Given the description of an element on the screen output the (x, y) to click on. 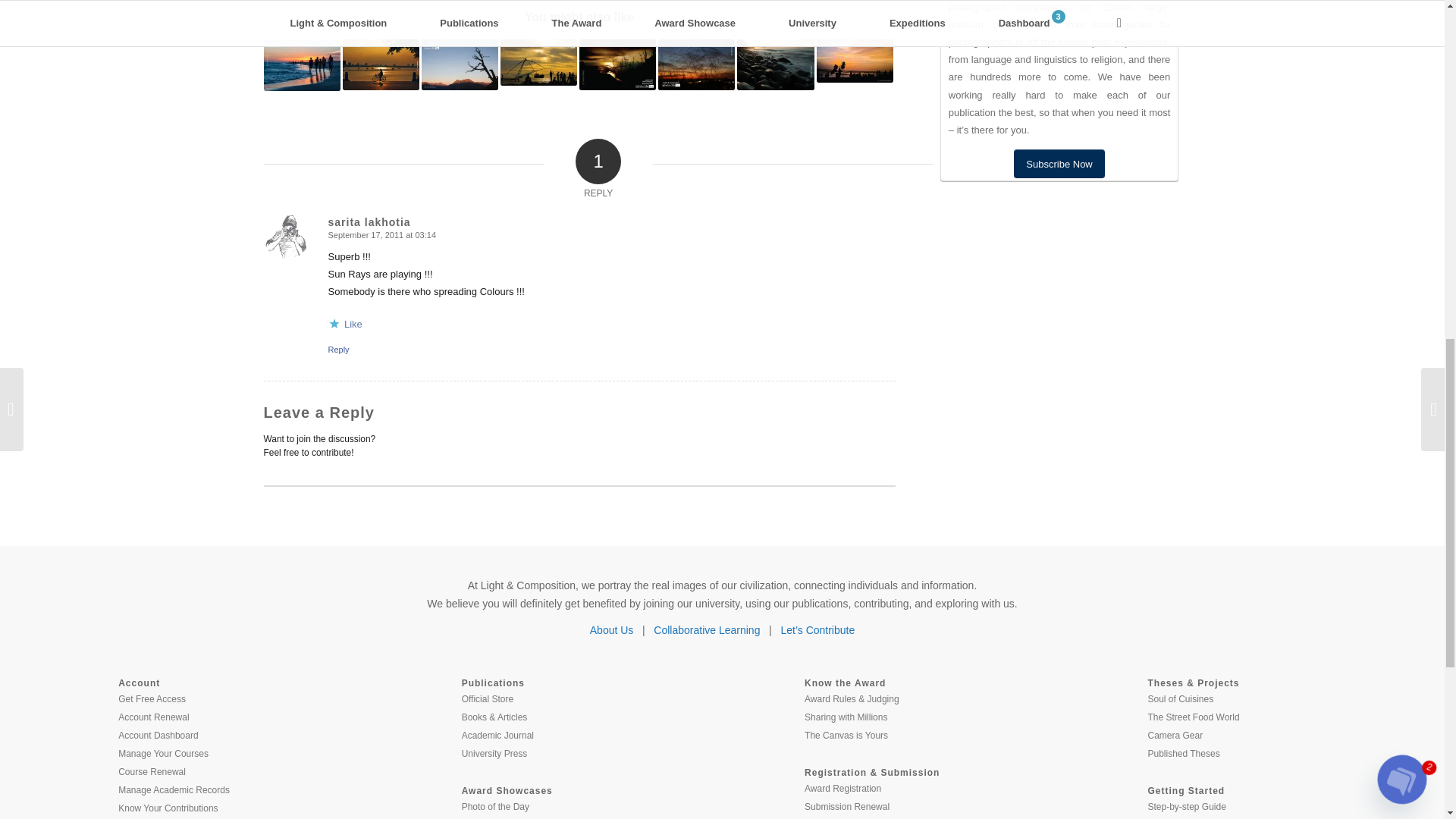
Way of Light by Everton Marcelino (301, 64)
